Given the description of an element on the screen output the (x, y) to click on. 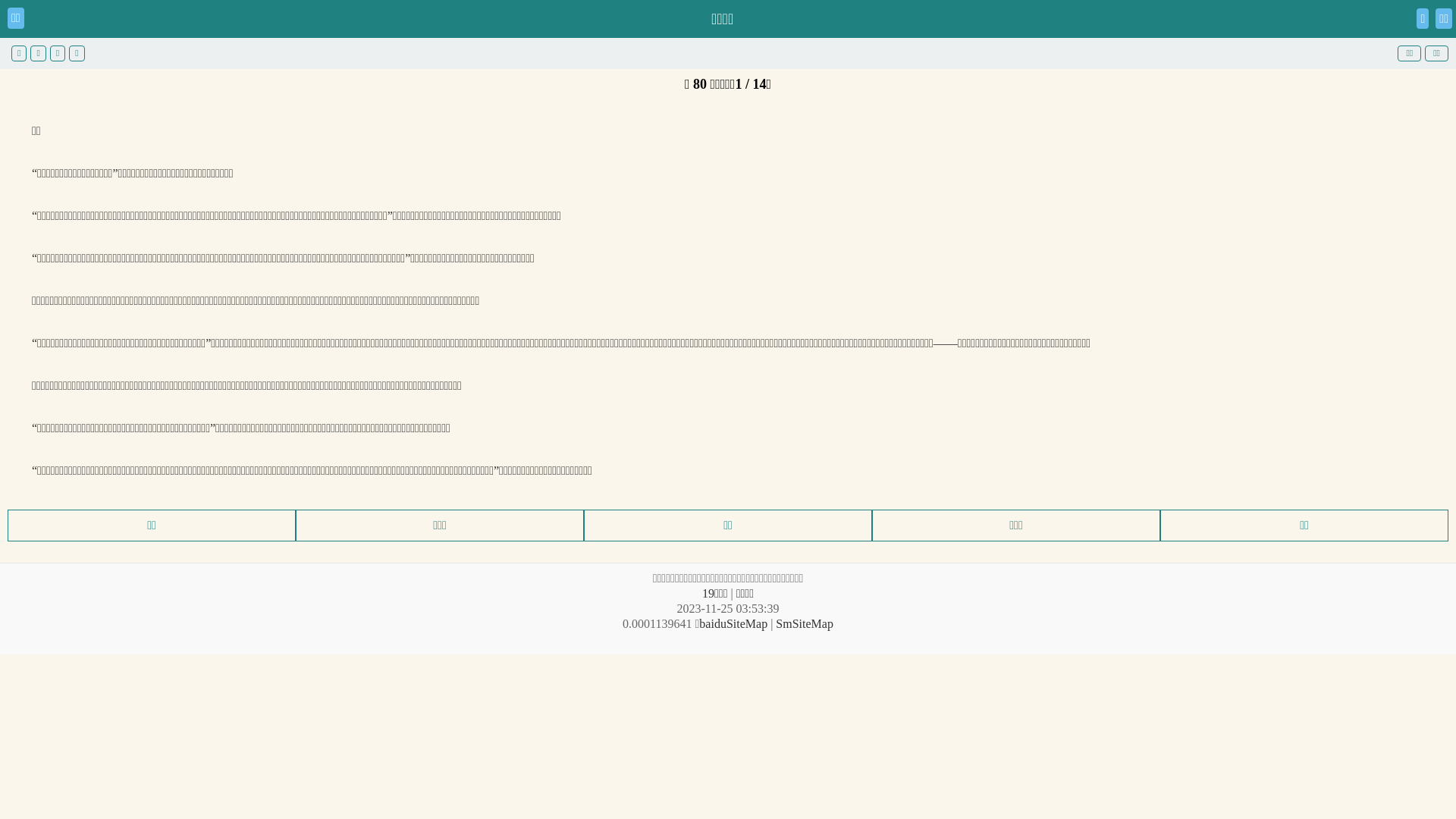
baiduSiteMap Element type: text (733, 623)
SmSiteMap Element type: text (804, 623)
